Given the description of an element on the screen output the (x, y) to click on. 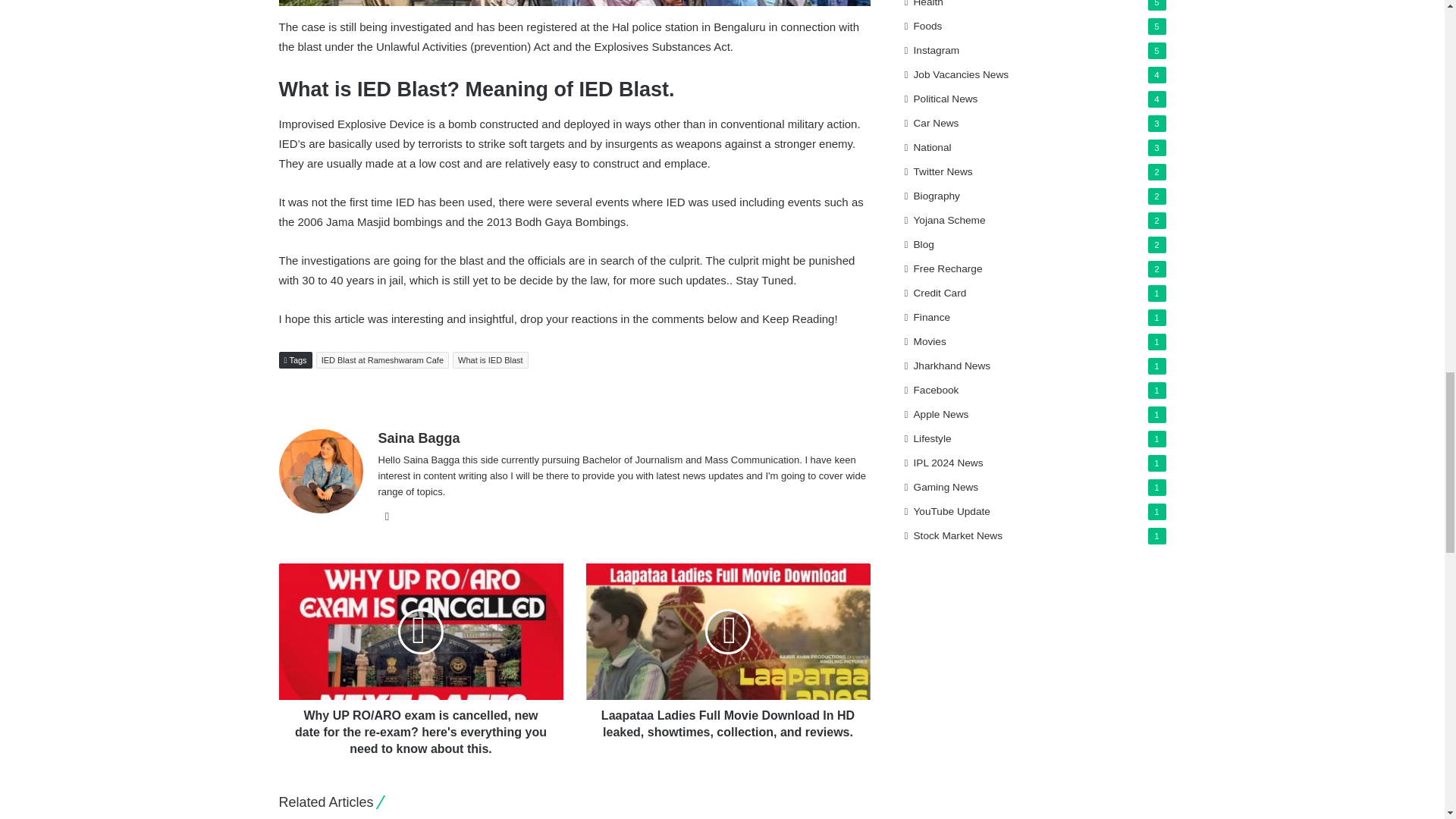
What is IED Blast (490, 360)
Website (386, 515)
IED Blast at Rameshwaram Cafe (381, 360)
Saina Bagga (418, 437)
